Given the description of an element on the screen output the (x, y) to click on. 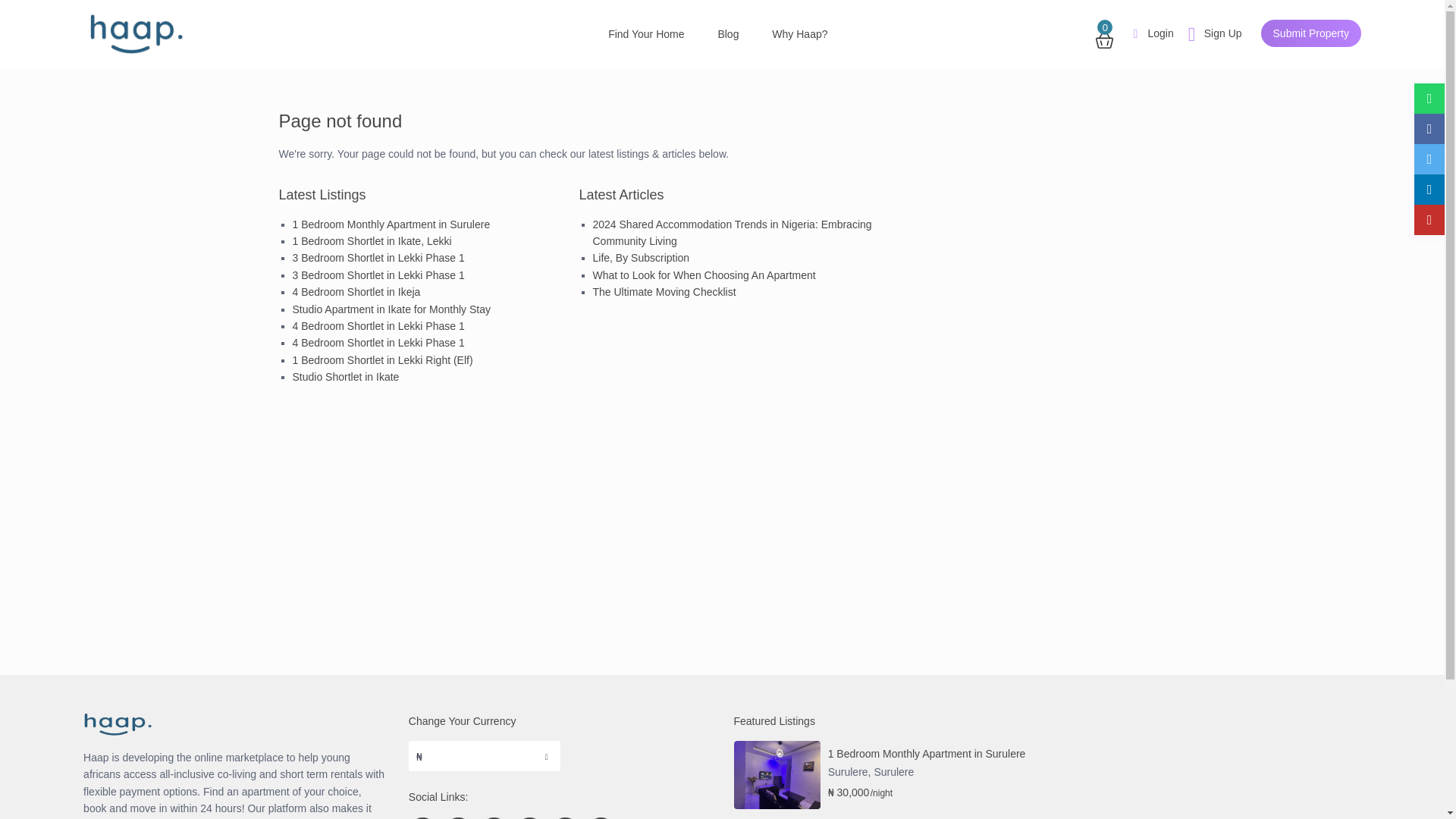
1 Bedroom Shortlet in Ikate, Lekki (371, 241)
3 Bedroom Shortlet in Lekki Phase 1 (378, 275)
Blog (727, 33)
What to Look for When Choosing An Apartment (703, 275)
4 Bedroom Shortlet in Lekki Phase 1 (378, 326)
Studio Shortlet in Ikate (345, 377)
3 Bedroom Shortlet in Lekki Phase 1 (378, 257)
The Ultimate Moving Checklist (664, 291)
1 Bedroom Monthly Apartment in Surulere (391, 224)
Studio Apartment in Ikate for Monthly Stay (391, 309)
Find Your Home (645, 33)
4 Bedroom Shortlet in Ikeja (356, 291)
4 Bedroom Shortlet in Lekki Phase 1 (378, 342)
Life, By Subscription (641, 257)
